Given the description of an element on the screen output the (x, y) to click on. 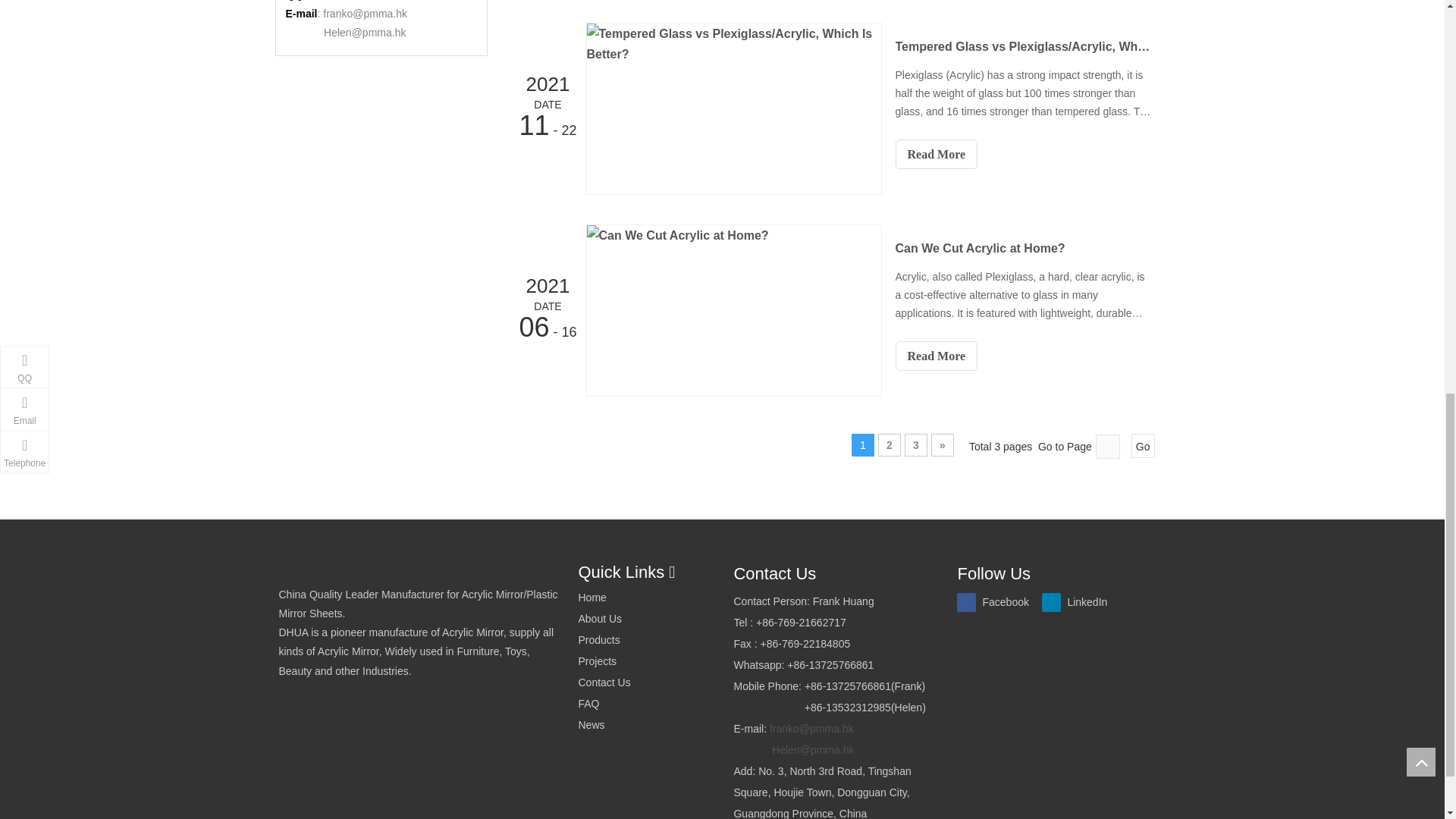
Products (599, 639)
Facebook (995, 601)
Home (591, 597)
FAQ (588, 703)
News (591, 725)
About Us (599, 618)
Projects (596, 661)
Contact Us (604, 682)
